Given the description of an element on the screen output the (x, y) to click on. 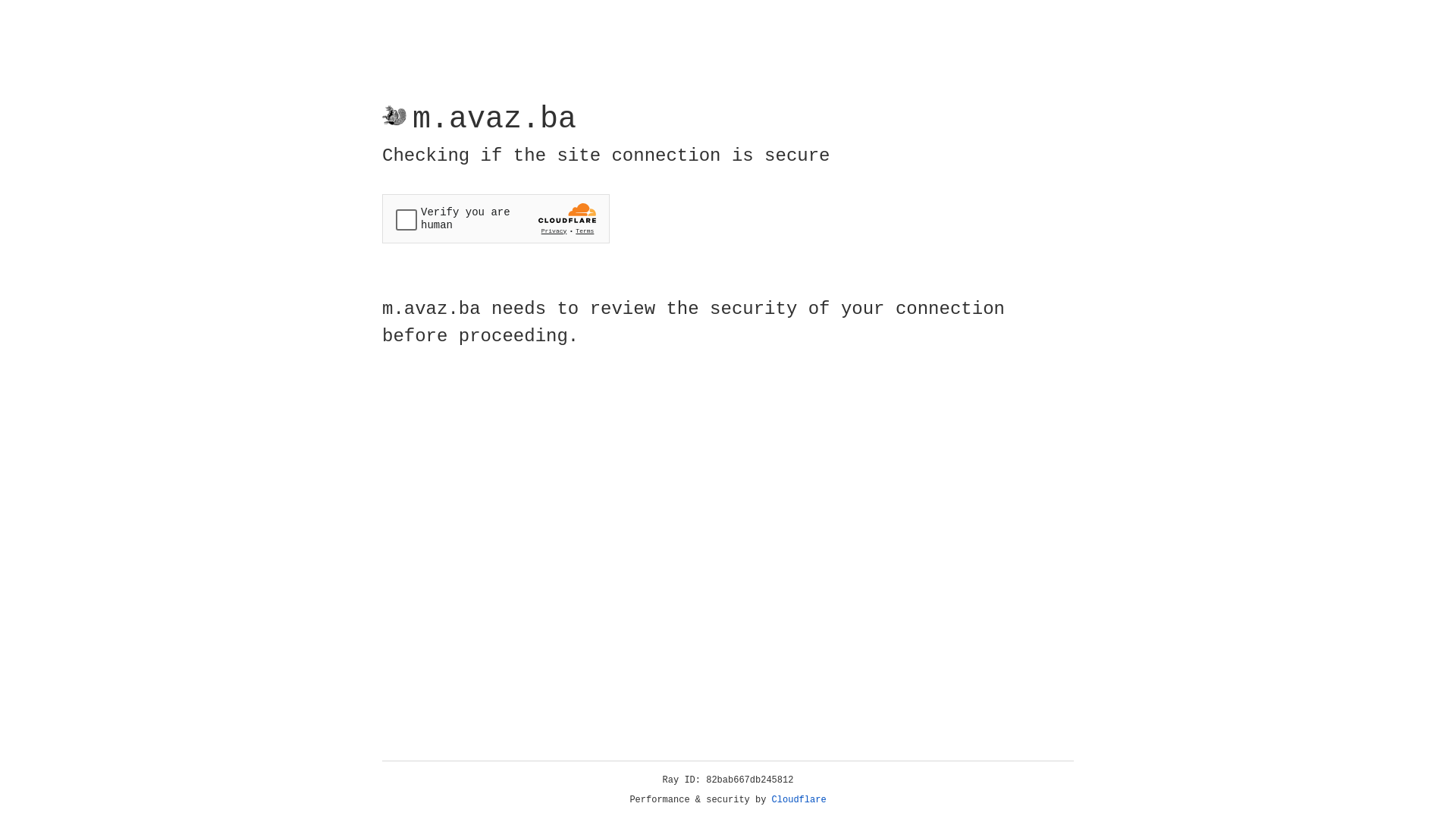
Cloudflare Element type: text (798, 799)
Widget containing a Cloudflare security challenge Element type: hover (495, 218)
